Given the description of an element on the screen output the (x, y) to click on. 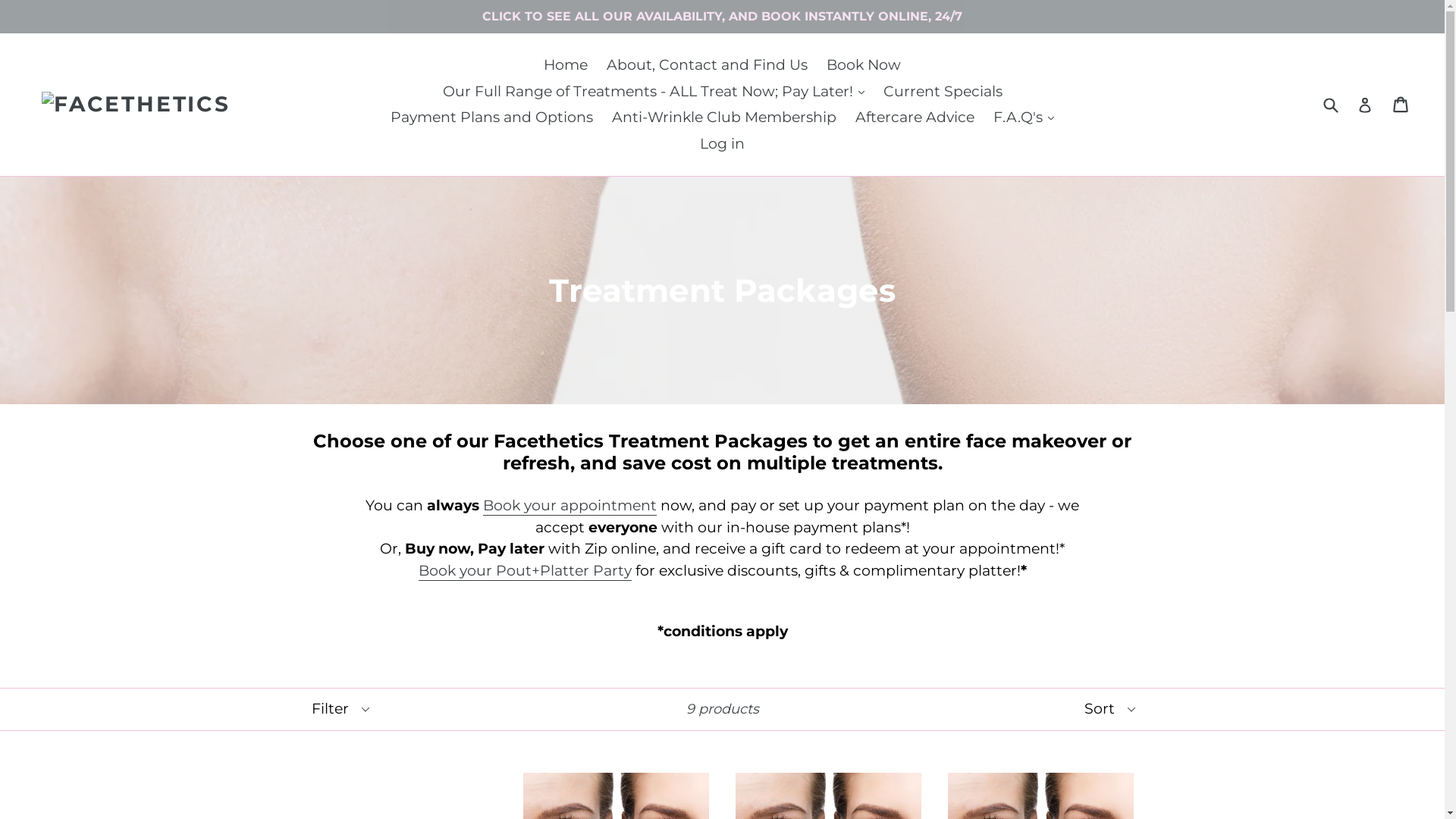
Cart
Cart Element type: text (1401, 104)
Payment Plans and Options Element type: text (491, 117)
Book Now Element type: text (863, 65)
Book your appointment Element type: text (569, 505)
Log in Element type: text (1364, 104)
Book your Pout+Platter Party Element type: text (524, 570)
Submit Element type: text (1329, 104)
About, Contact and Find Us Element type: text (707, 65)
Log in Element type: text (722, 143)
Anti-Wrinkle Club Membership Element type: text (724, 117)
Current Specials Element type: text (942, 91)
Aftercare Advice Element type: text (914, 117)
Home Element type: text (565, 65)
